Given the description of an element on the screen output the (x, y) to click on. 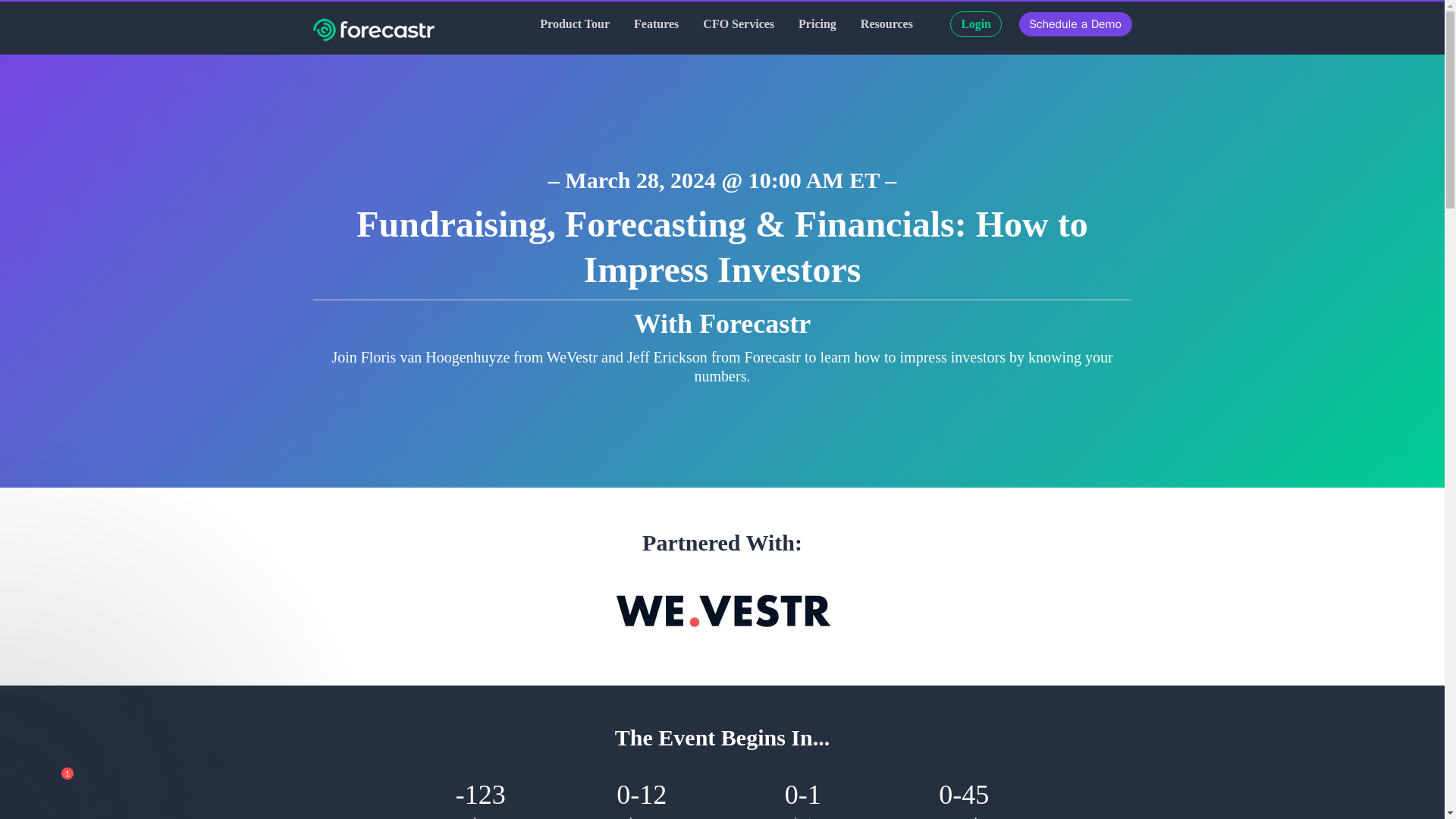
Schedule a Demo (1075, 24)
Intercom live chat (48, 785)
Product Tour (575, 24)
Login (975, 23)
Schedule a Demo (1075, 24)
Pricing (816, 24)
Features (655, 24)
CFO Services (738, 24)
Intercom live chat message (163, 676)
Resources (886, 24)
Login (975, 23)
Forecastr Logo (373, 29)
